Given the description of an element on the screen output the (x, y) to click on. 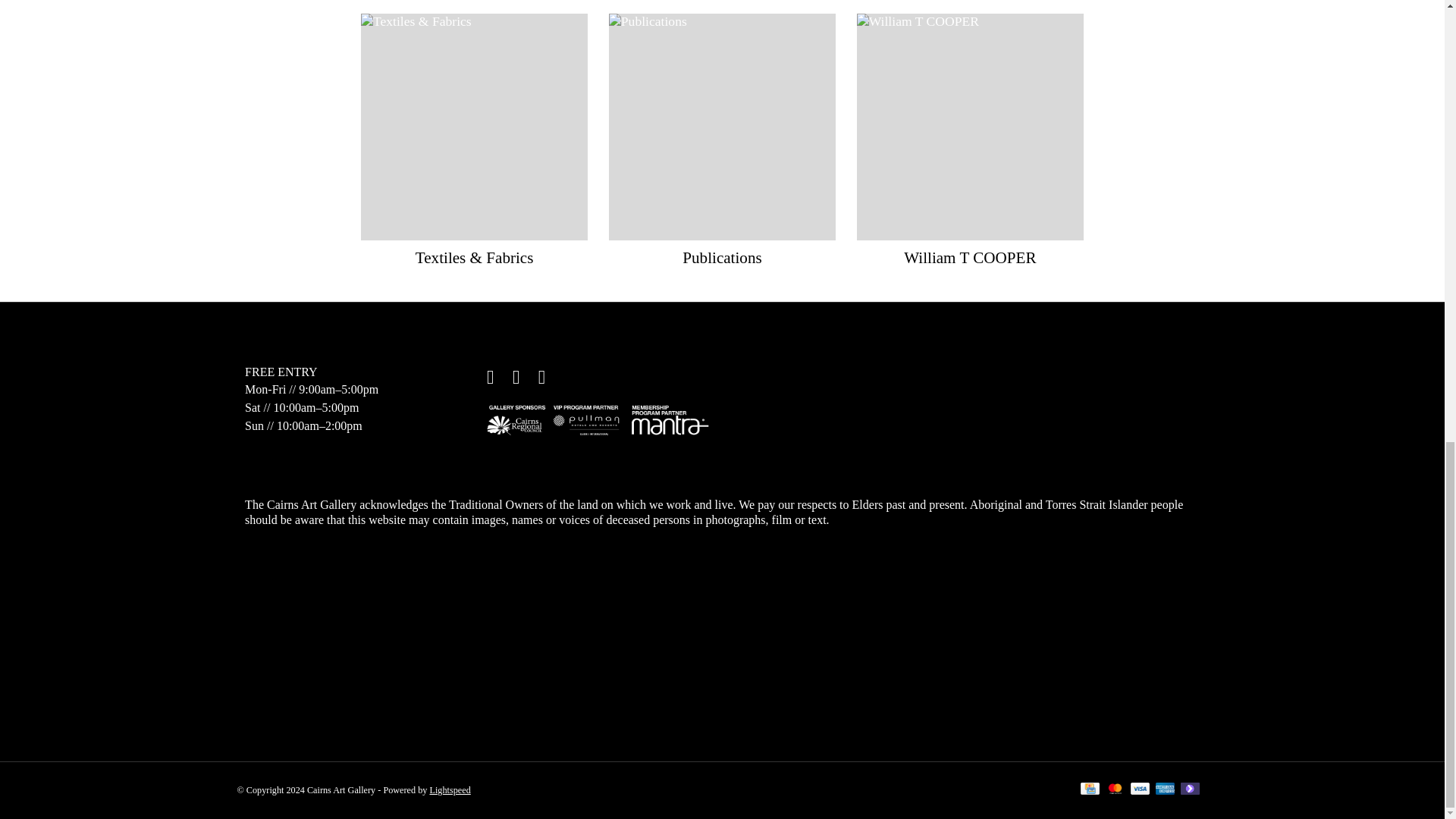
Credit Card (1089, 789)
American Express (1165, 789)
William T COOPER (970, 126)
Lightspeed (449, 789)
Visa (1140, 789)
William T COOPER (969, 257)
MasterCard (1115, 789)
Publications (721, 126)
Publications (721, 257)
Lightspeed (449, 789)
Digital Wallet (1189, 789)
